Given the description of an element on the screen output the (x, y) to click on. 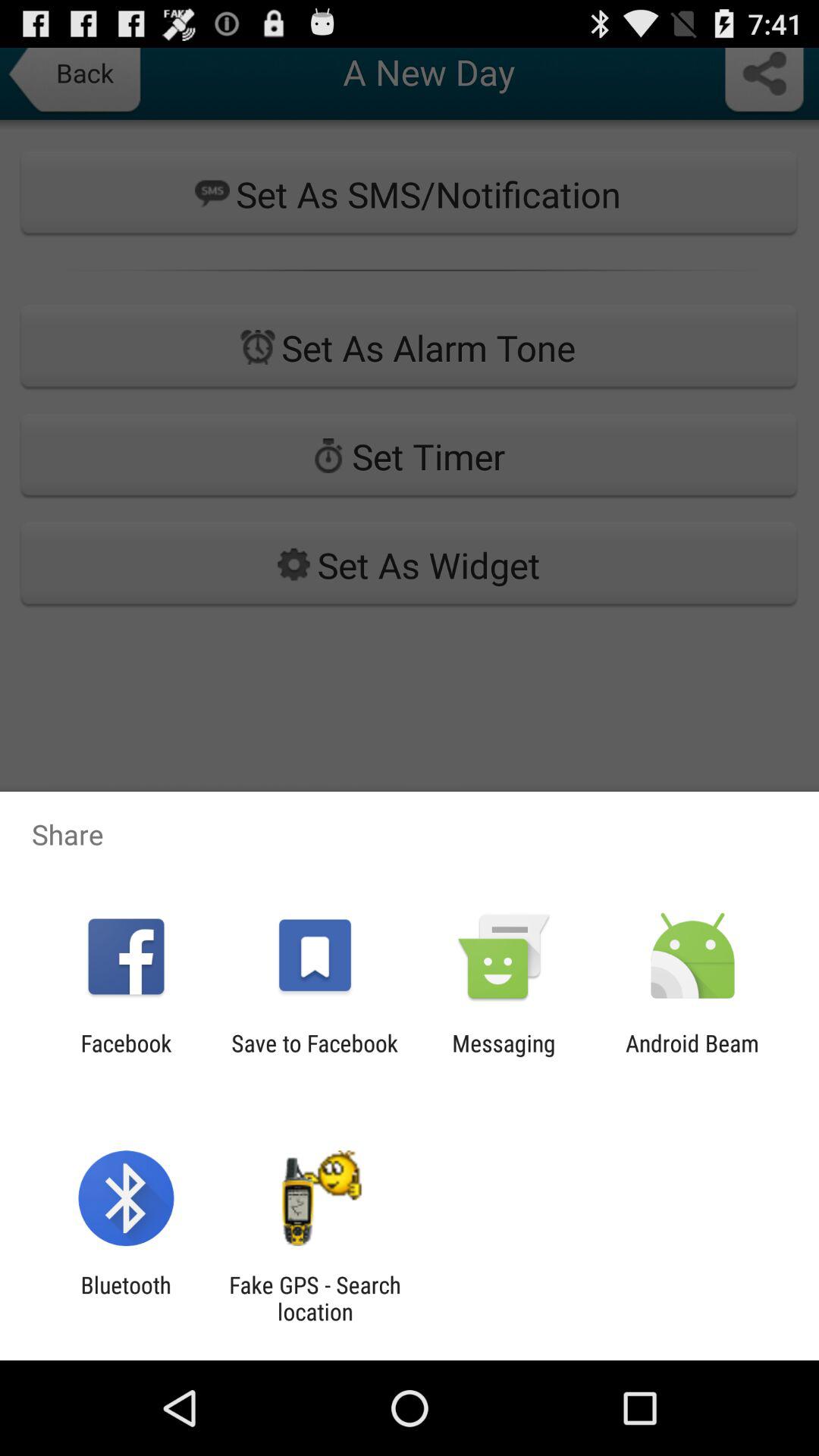
turn on the app to the right of the messaging item (692, 1056)
